Given the description of an element on the screen output the (x, y) to click on. 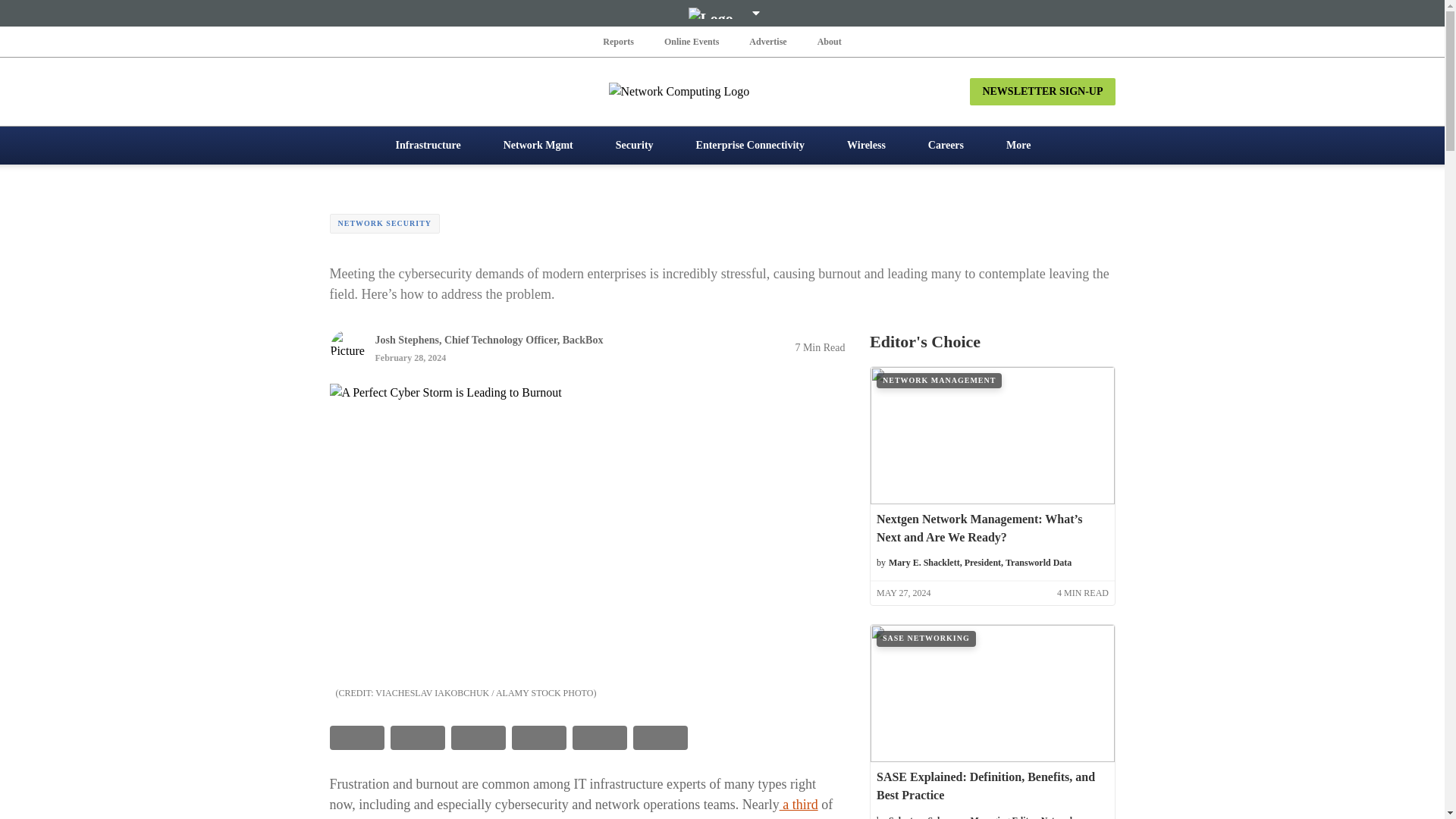
About (828, 41)
Online Events (691, 41)
Reports (618, 41)
NEWSLETTER SIGN-UP (1042, 90)
Picture of Josh Stephens, Chief Technology Officer, BackBox (347, 347)
Network Computing Logo (721, 91)
Advertise (767, 41)
